Given the description of an element on the screen output the (x, y) to click on. 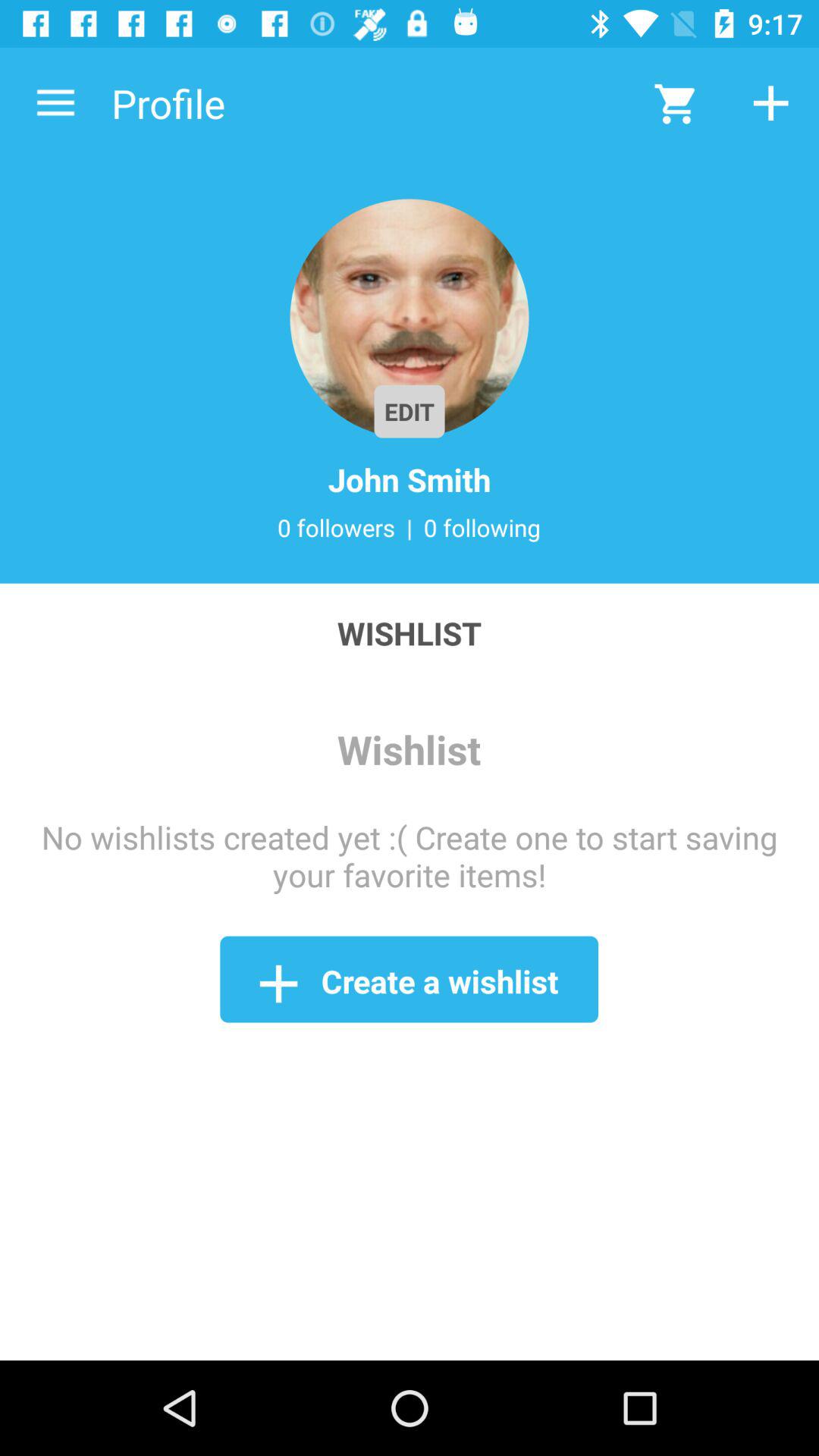
tap the john smith icon (409, 479)
